Given the description of an element on the screen output the (x, y) to click on. 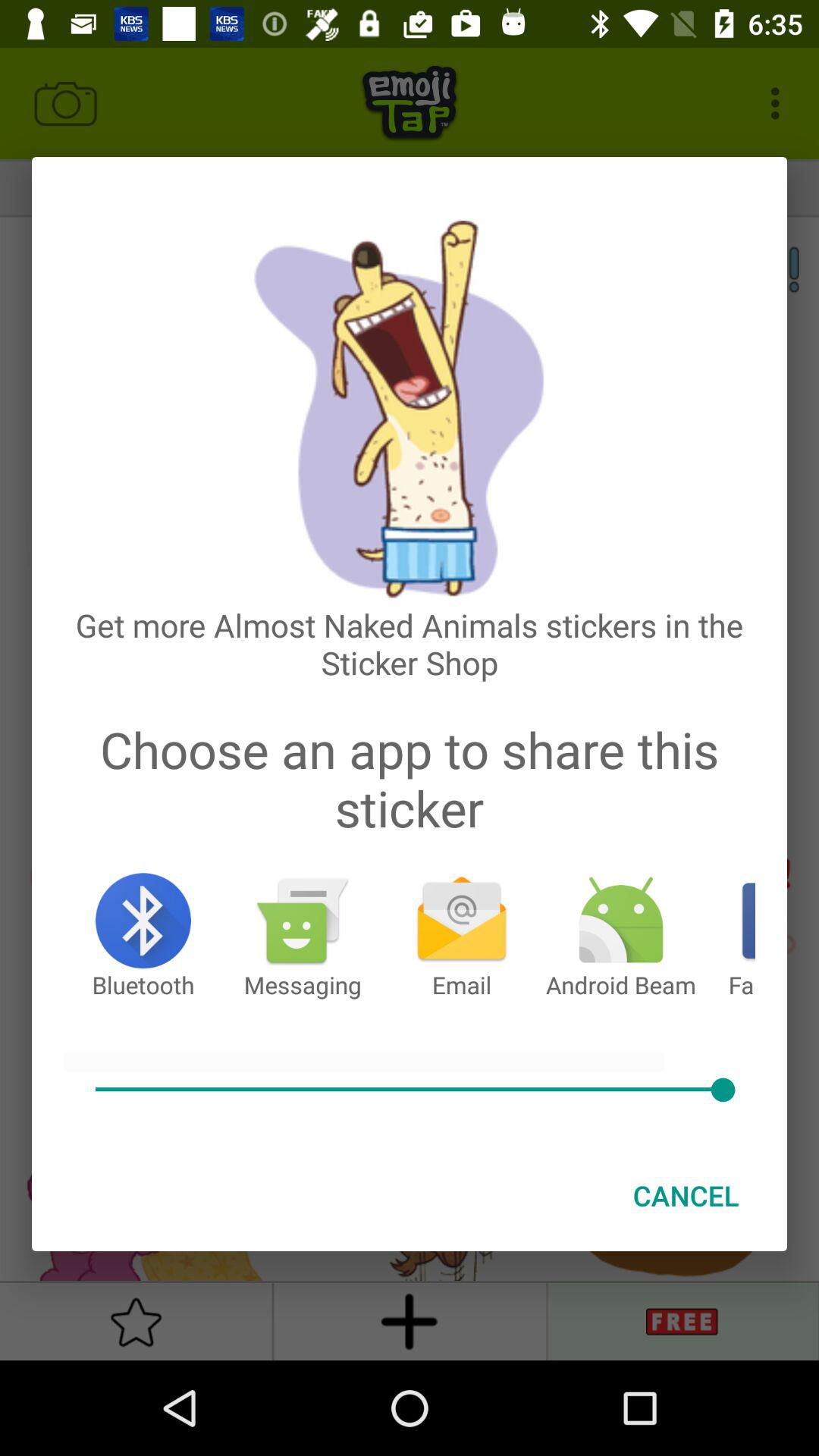
swipe to the cancel (686, 1195)
